Given the description of an element on the screen output the (x, y) to click on. 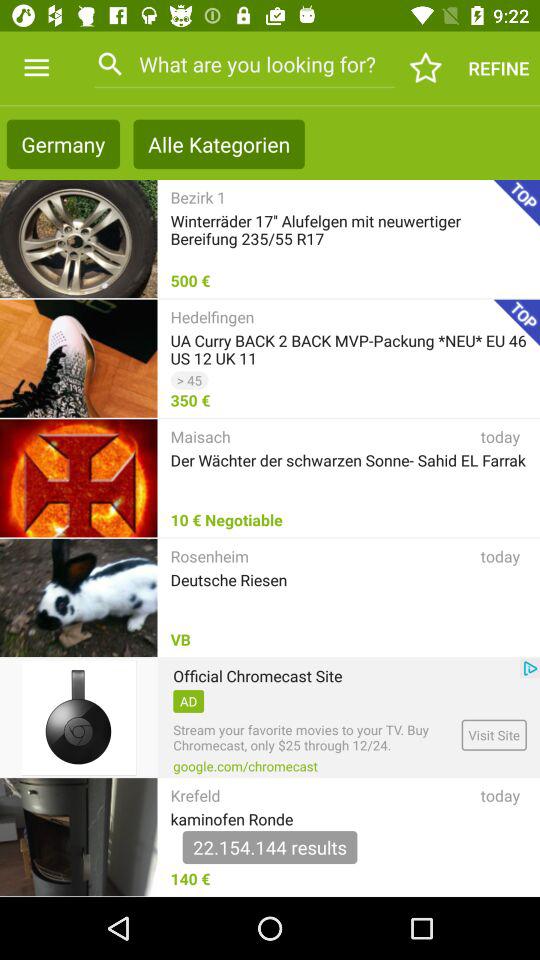
turn off item to the left of the visit site item (245, 766)
